Given the description of an element on the screen output the (x, y) to click on. 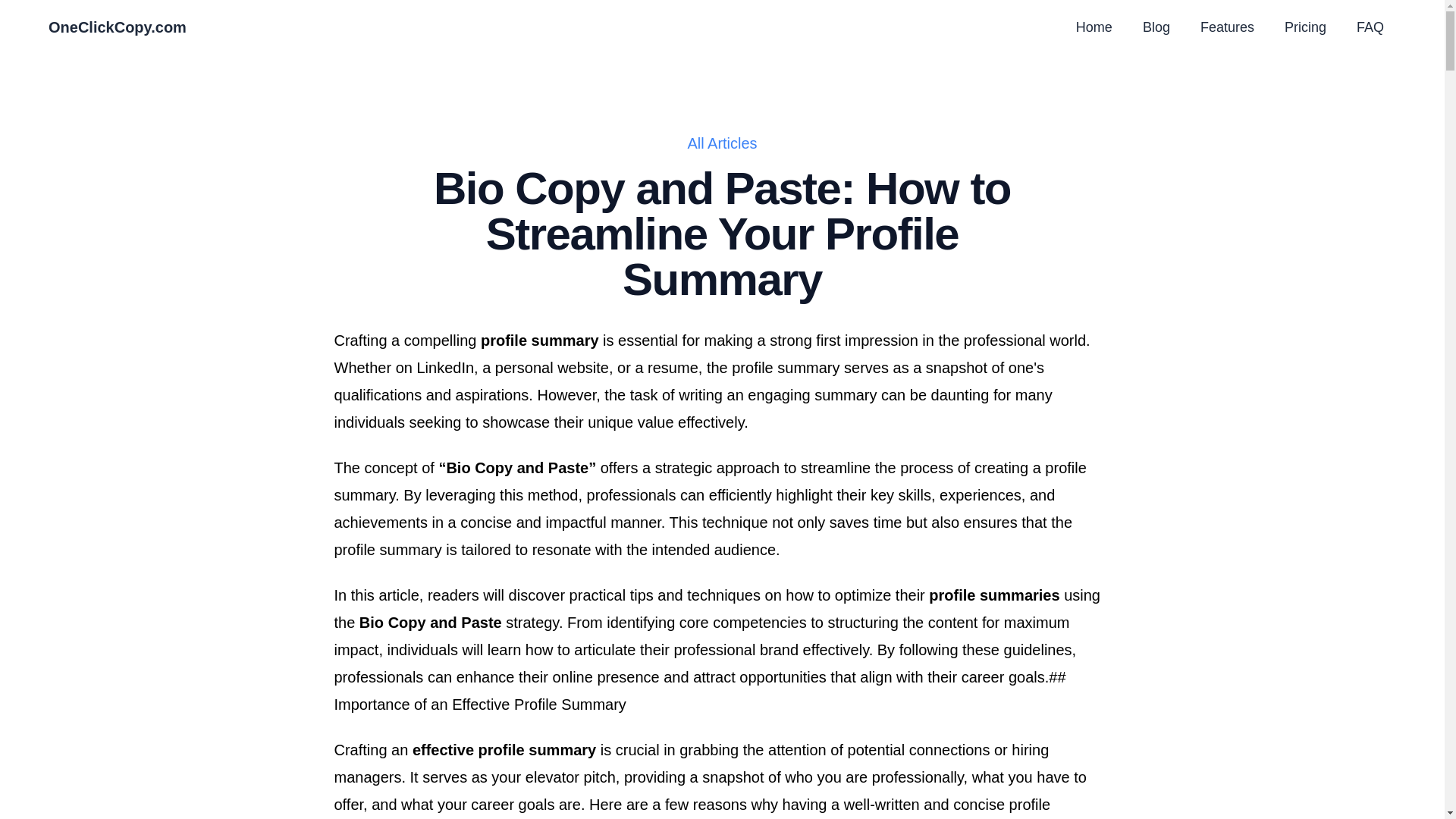
Pricing (1305, 27)
FAQ (1369, 27)
Blog (1156, 27)
OneClickCopy.com (117, 26)
Features (1227, 27)
Home (1094, 27)
All Articles (722, 142)
